Given the description of an element on the screen output the (x, y) to click on. 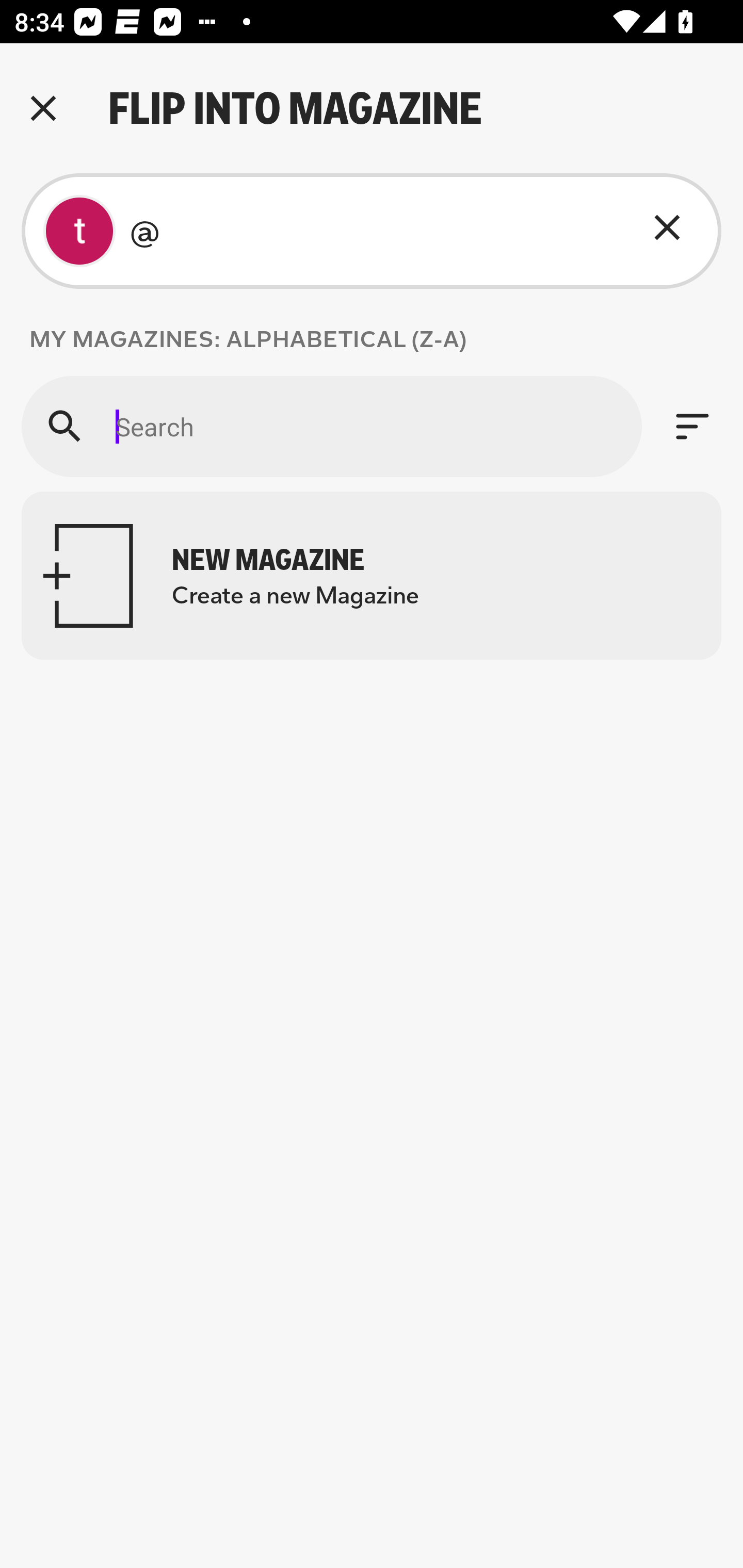
test appium @ (371, 231)
Search (331, 426)
NEW MAGAZINE Create a new Magazine (371, 575)
